Given the description of an element on the screen output the (x, y) to click on. 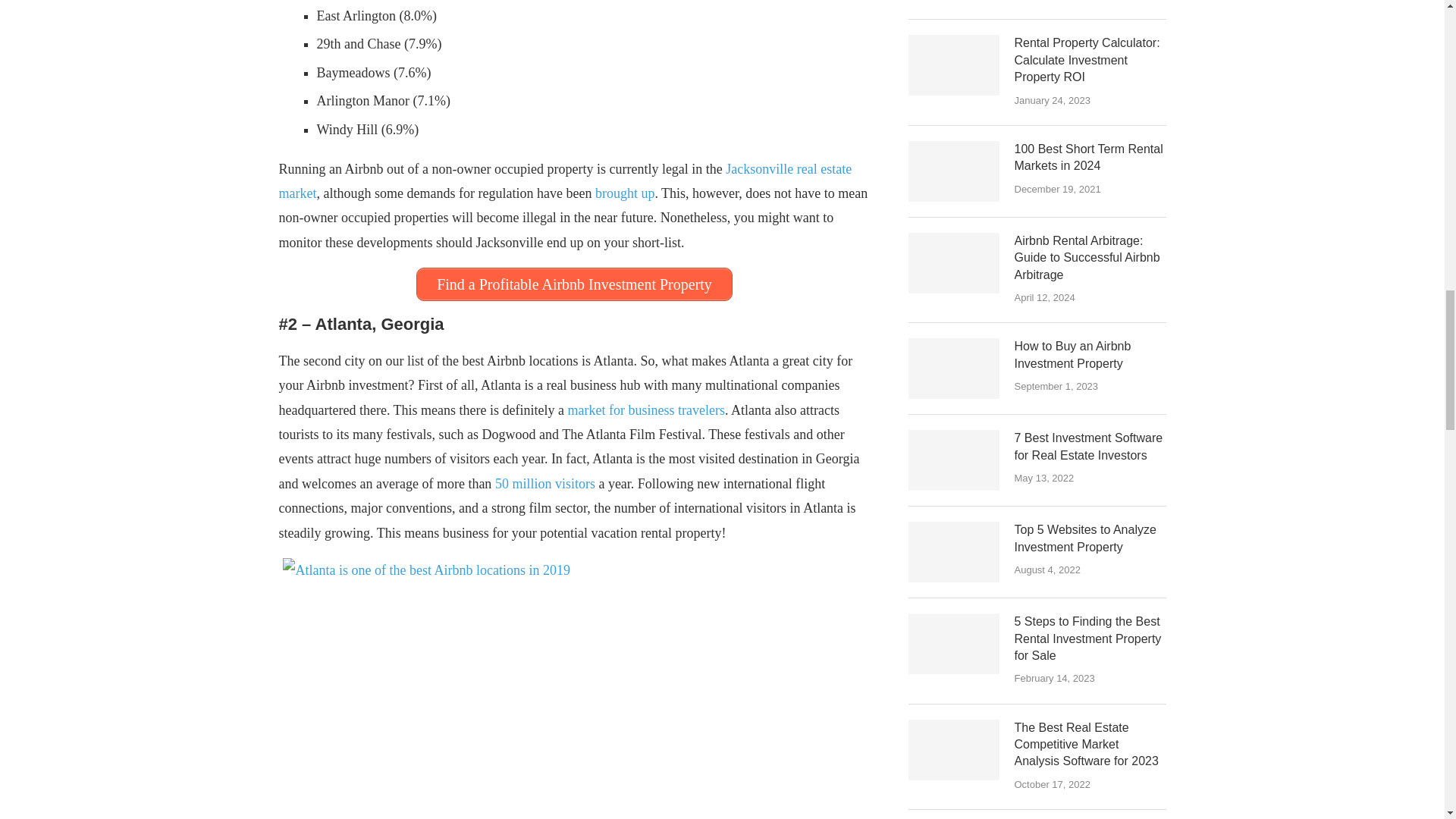
Jacksonville real estate market (565, 180)
brought up (625, 192)
50 million visitors (545, 483)
Find a Profitable Airbnb Investment Property (574, 284)
market for business travelers (646, 409)
